Given the description of an element on the screen output the (x, y) to click on. 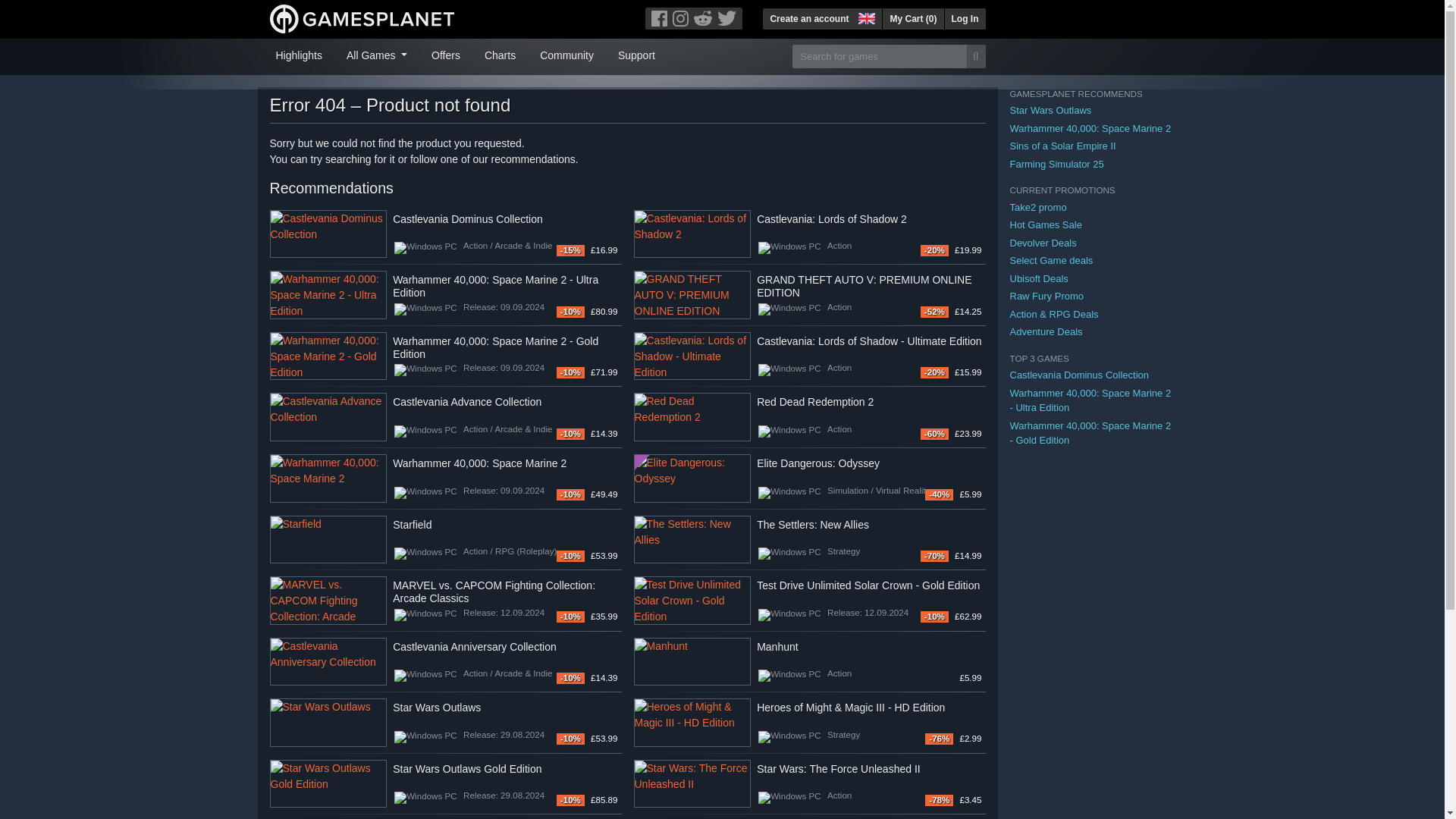
MARVEL vs. CAPCOM Fighting Collection: Arcade Classics (328, 600)
Castlevania Advance Collection (328, 417)
Warhammer 40,000: Space Marine 2 (328, 478)
GRAND THEFT AUTO V: PREMIUM ONLINE EDITION (692, 295)
Castlevania Dominus Collection (328, 233)
Log In (964, 18)
Manhunt (692, 662)
Star Wars: The Force Unleashed II (692, 784)
Warhammer 40,000: Space Marine 2 - Ultra Edition (328, 295)
Create an account (809, 18)
